Given the description of an element on the screen output the (x, y) to click on. 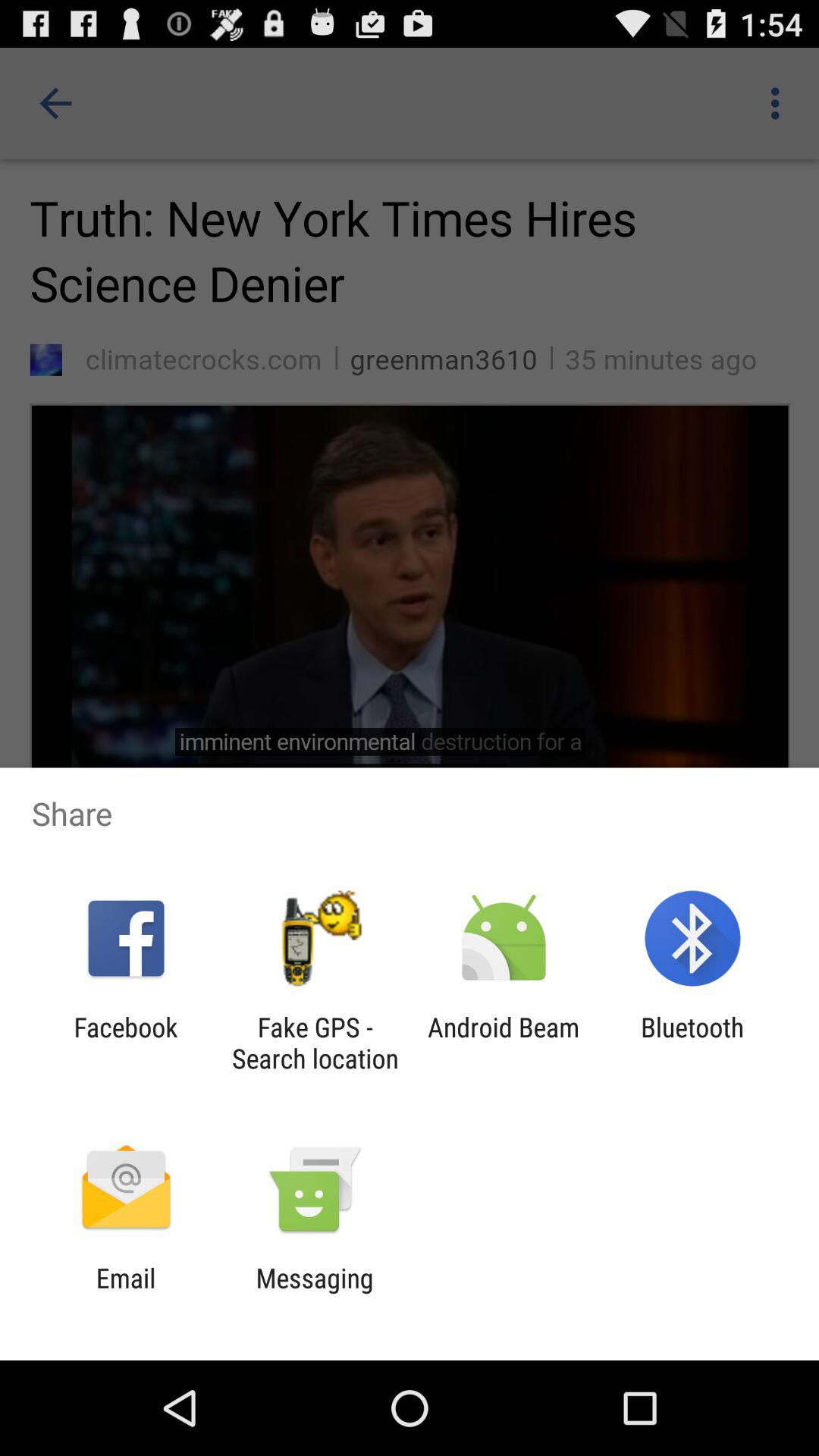
turn on item next to the fake gps search app (503, 1042)
